Given the description of an element on the screen output the (x, y) to click on. 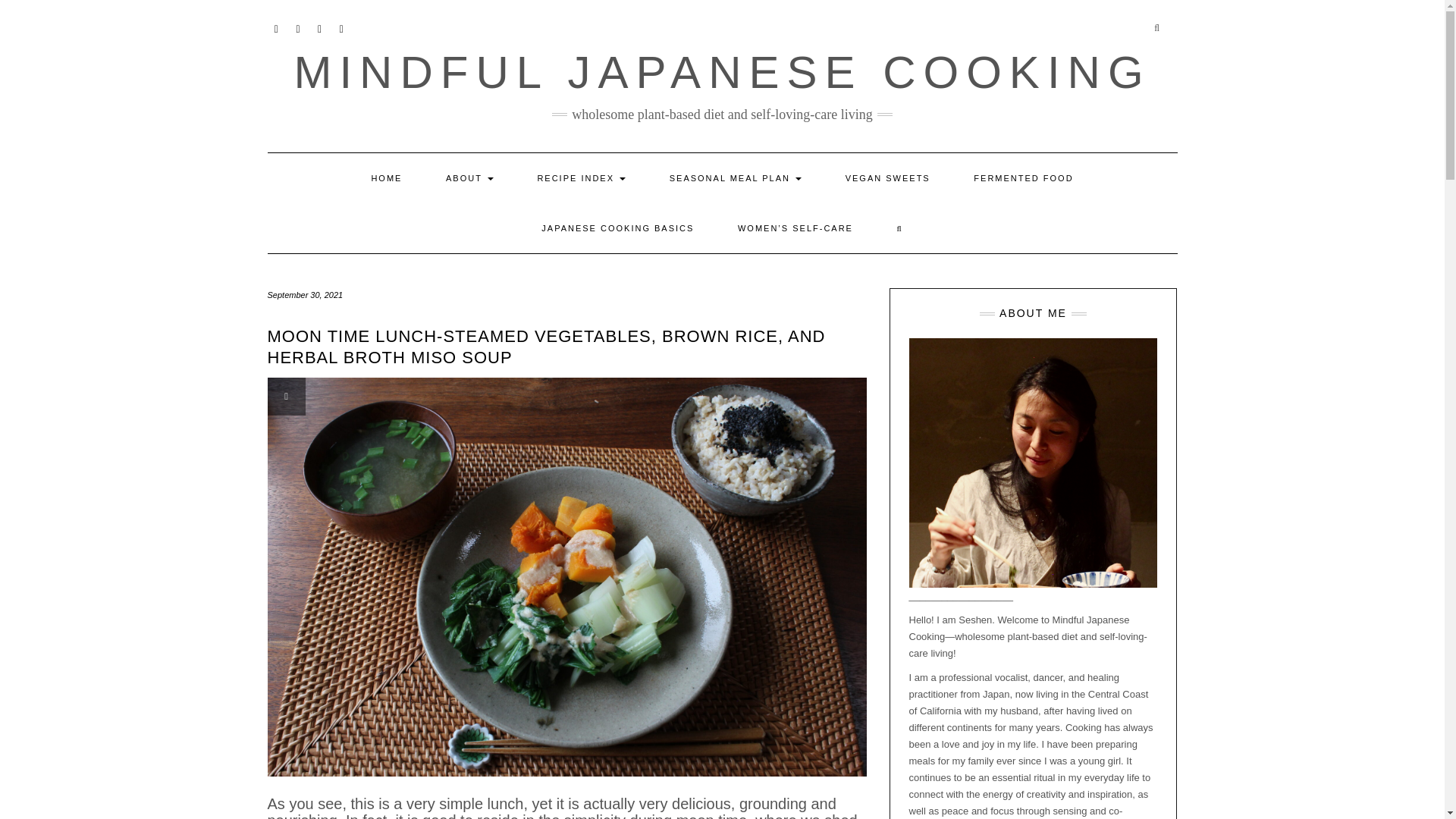
SEASONAL MEAL PLAN (735, 178)
YOUTUBE (275, 27)
FERMENTED FOOD (1023, 178)
ABOUT (469, 178)
PINTEREST (320, 27)
HOME (386, 178)
MAIL (340, 27)
MINDFUL JAPANESE COOKING (722, 71)
INSTAGRAM (297, 27)
VEGAN SWEETS (887, 178)
